Given the description of an element on the screen output the (x, y) to click on. 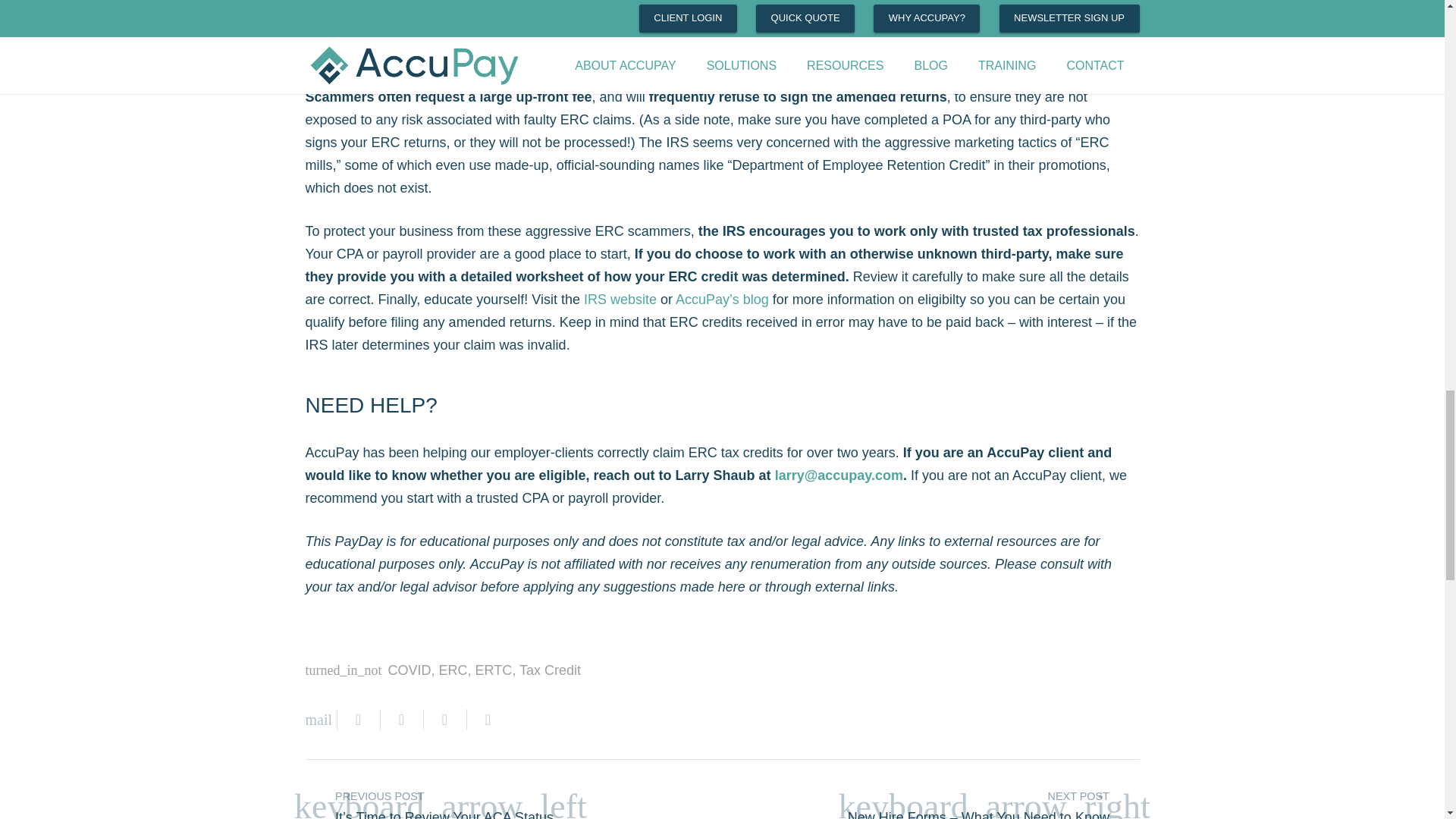
Share this (358, 719)
Share this (444, 719)
Tweet this (401, 719)
IRS website (619, 299)
Share this (482, 719)
Email this (320, 719)
